Given the description of an element on the screen output the (x, y) to click on. 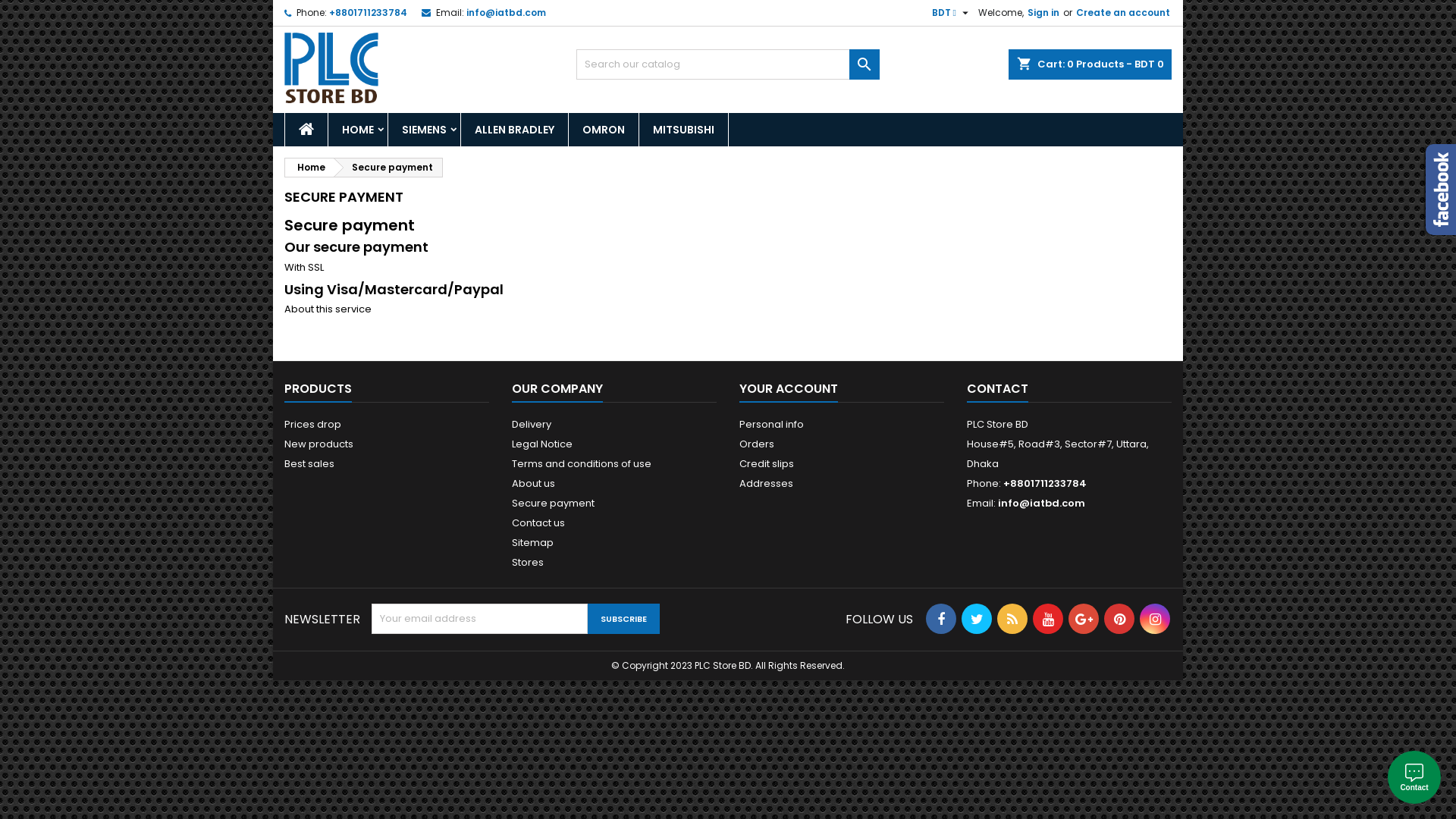
Create an account Element type: text (1122, 12)
Home Element type: text (308, 167)
Secure payment Element type: text (388, 167)
SIEMENS Element type: text (424, 129)
New products Element type: text (318, 443)
Terms and conditions of use Element type: text (581, 463)
Stores Element type: text (527, 562)
Personal info Element type: text (771, 424)
CONTACT Element type: text (997, 389)
MITSUBISHI Element type: text (683, 129)
Best sales Element type: text (309, 463)
OMRON Element type: text (603, 129)
Prices drop Element type: text (312, 424)
HOME Element type: text (357, 129)
Addresses Element type: text (766, 483)
Subscribe Element type: text (623, 618)
info@iatbd.com Element type: text (1041, 502)
Orders Element type: text (756, 443)
ALLEN BRADLEY Element type: text (514, 129)
Contact us Element type: text (537, 522)
Sign in Element type: text (1043, 12)
Secure payment Element type: text (552, 502)
About us Element type: text (533, 483)
Sitemap Element type: text (532, 542)
Credit slips Element type: text (766, 463)
shopping_cart
Cart: 0 Products - BDT 0 Element type: text (1089, 64)
info@iatbd.com Element type: text (506, 12)
YOUR ACCOUNT Element type: text (788, 389)
Delivery Element type: text (531, 424)
Legal Notice Element type: text (541, 443)
